Given the description of an element on the screen output the (x, y) to click on. 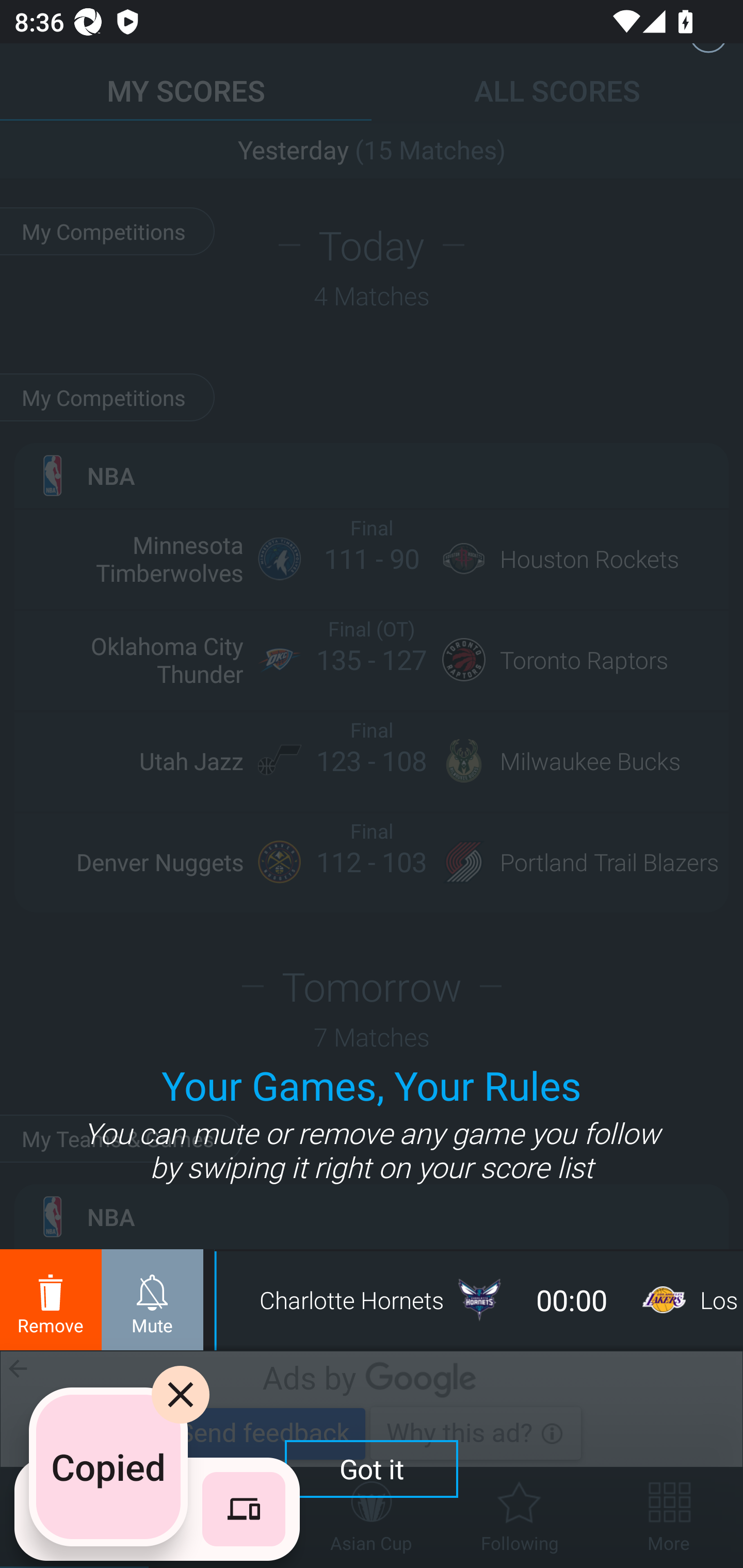
Charlotte Hornets 00:00 Los Angeles Lakers (479, 1299)
Got it (371, 1468)
